Given the description of an element on the screen output the (x, y) to click on. 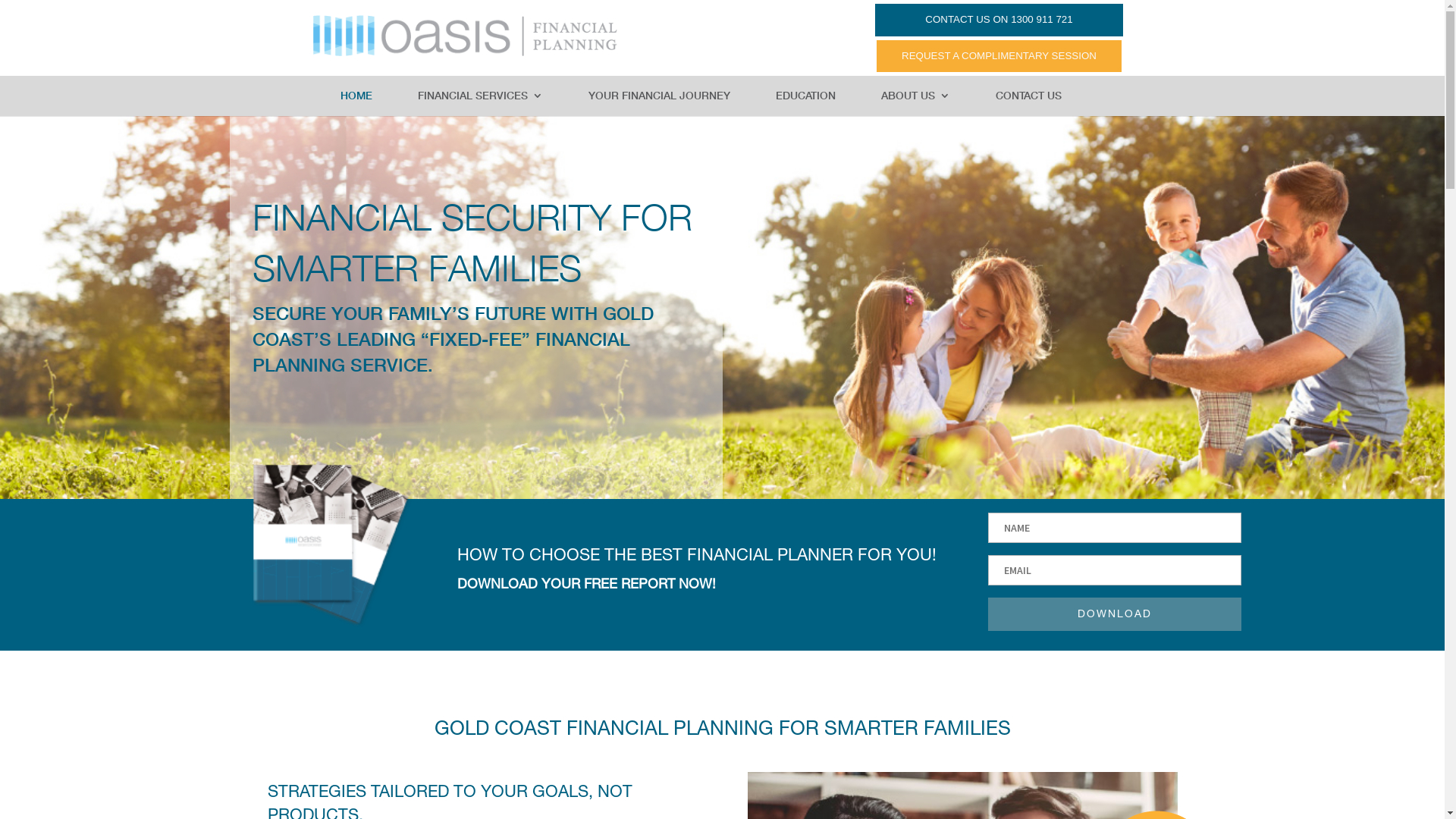
Download Element type: text (1113, 613)
CONTACT US Element type: text (1028, 103)
ABOUT US Element type: text (915, 103)
FINANCIAL SERVICES Element type: text (479, 103)
CONTACT US ON 1300 911 721 Element type: text (998, 19)
REQUEST A COMPLIMENTARY SESSION Element type: text (998, 56)
YOUR FINANCIAL JOURNEY Element type: text (659, 103)
EDUCATION Element type: text (805, 103)
HOME Element type: text (356, 103)
